Given the description of an element on the screen output the (x, y) to click on. 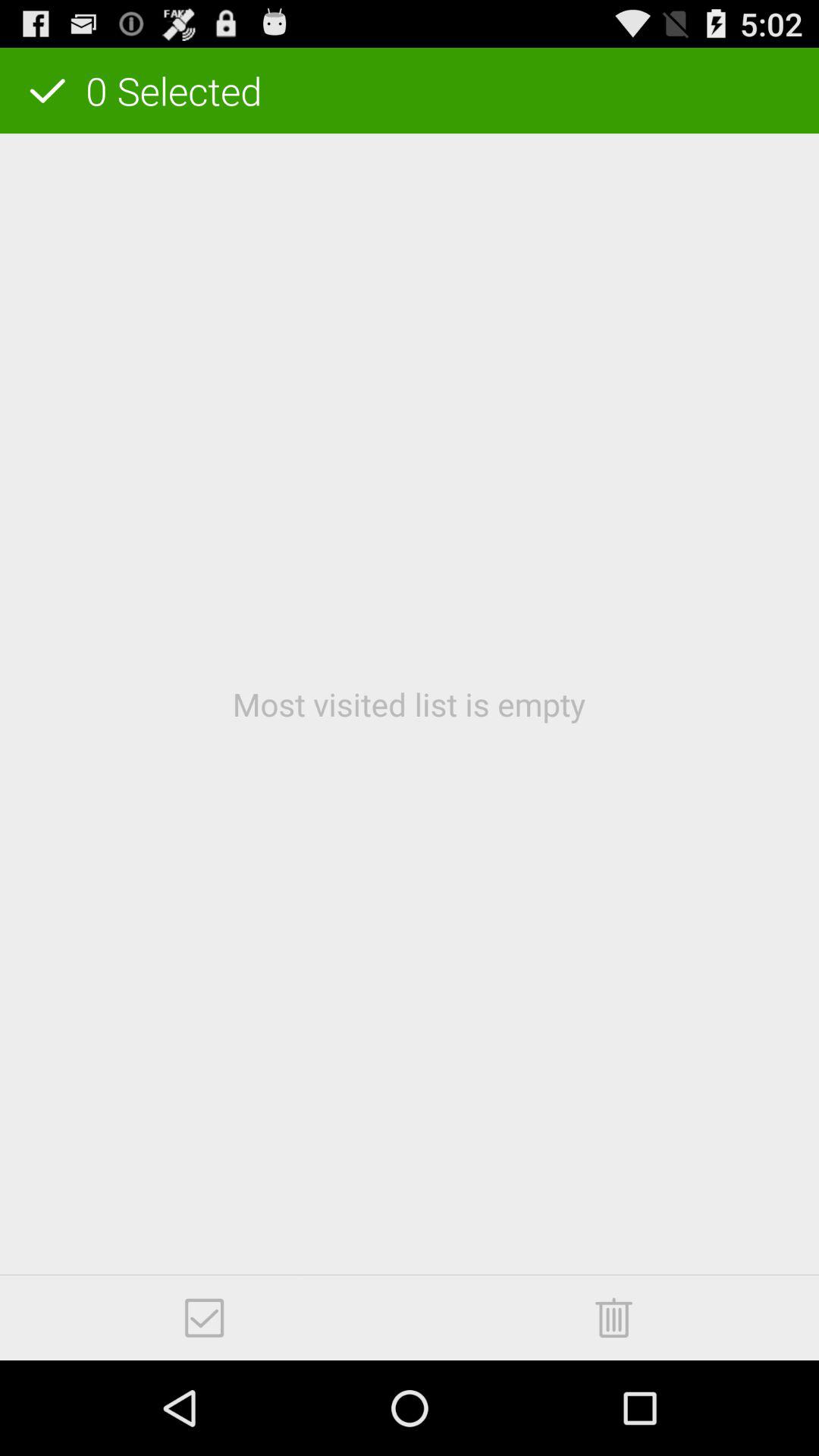
enable (204, 1317)
